Given the description of an element on the screen output the (x, y) to click on. 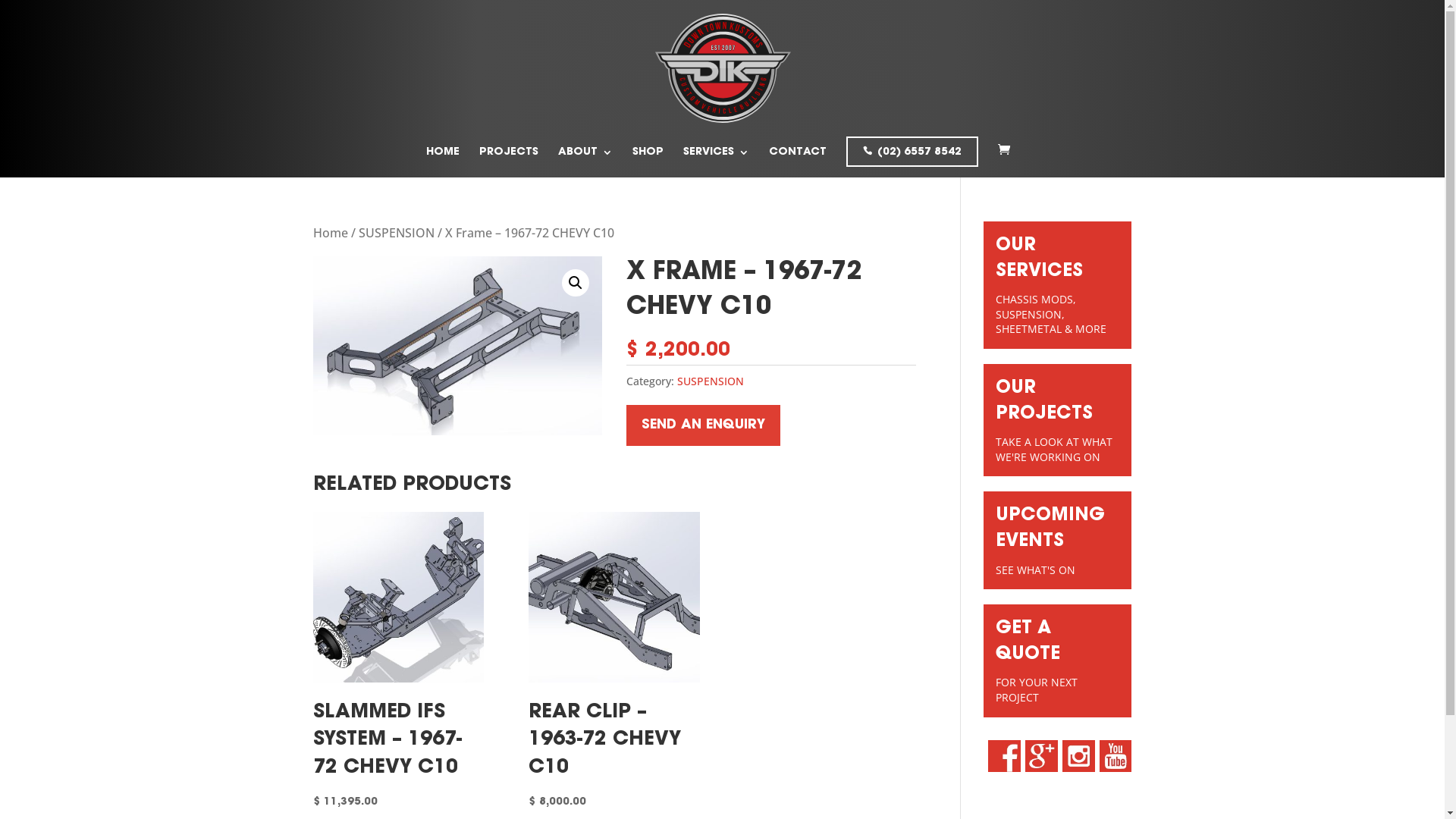
c10 x frame pic Element type: hover (457, 345)
PROJECTS Element type: text (508, 158)
ABOUT Element type: text (585, 158)
Home Element type: text (329, 232)
SHOP Element type: text (647, 158)
SEND AN ENQUIRY Element type: text (703, 425)
SUSPENSION Element type: text (395, 232)
GET A QUOTE
FOR YOUR NEXT PROJECT Element type: text (1057, 660)
(02) 6557 8542 Element type: text (912, 151)
SERVICES Element type: text (715, 158)
OUR PROJECTS
TAKE A LOOK AT WHAT WE'RE WORKING ON Element type: text (1057, 420)
HOME Element type: text (442, 158)
UPCOMING EVENTS
SEE WHAT'S ON Element type: text (1057, 540)
OUR SERVICES
CHASSIS MODS, SUSPENSION, SHEETMETAL & MORE Element type: text (1057, 284)
CONTACT Element type: text (797, 158)
SUSPENSION Element type: text (710, 380)
